Given the description of an element on the screen output the (x, y) to click on. 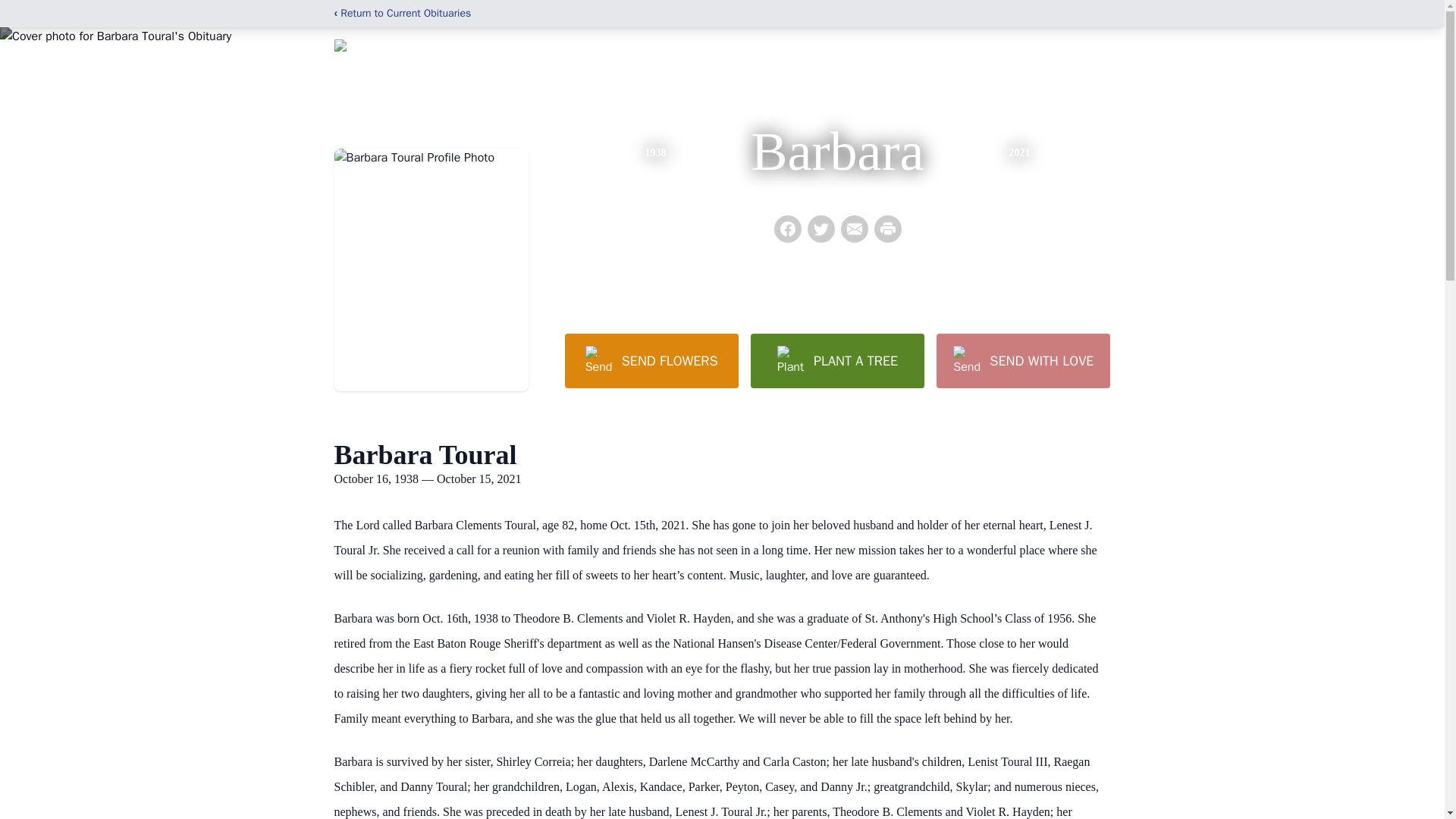
SEND WITH LOVE (1022, 360)
SEND FLOWERS (651, 360)
PLANT A TREE (837, 360)
